Given the description of an element on the screen output the (x, y) to click on. 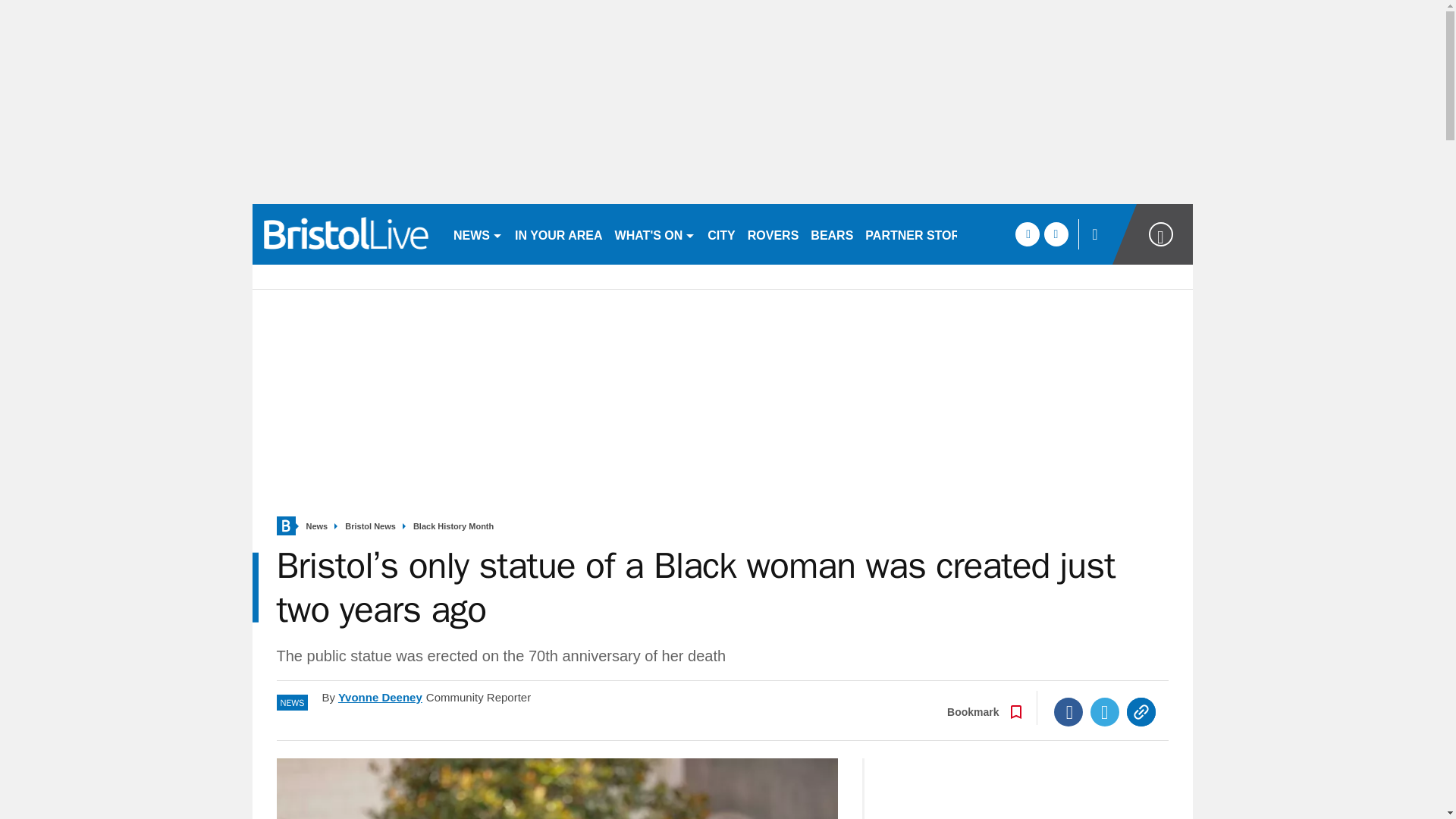
Twitter (1104, 711)
ROVERS (773, 233)
facebook (1026, 233)
CITY (721, 233)
twitter (1055, 233)
BEARS (832, 233)
NEWS (477, 233)
bristolpost (345, 233)
WHAT'S ON (654, 233)
IN YOUR AREA (558, 233)
Facebook (1068, 711)
PARTNER STORIES (922, 233)
